Given the description of an element on the screen output the (x, y) to click on. 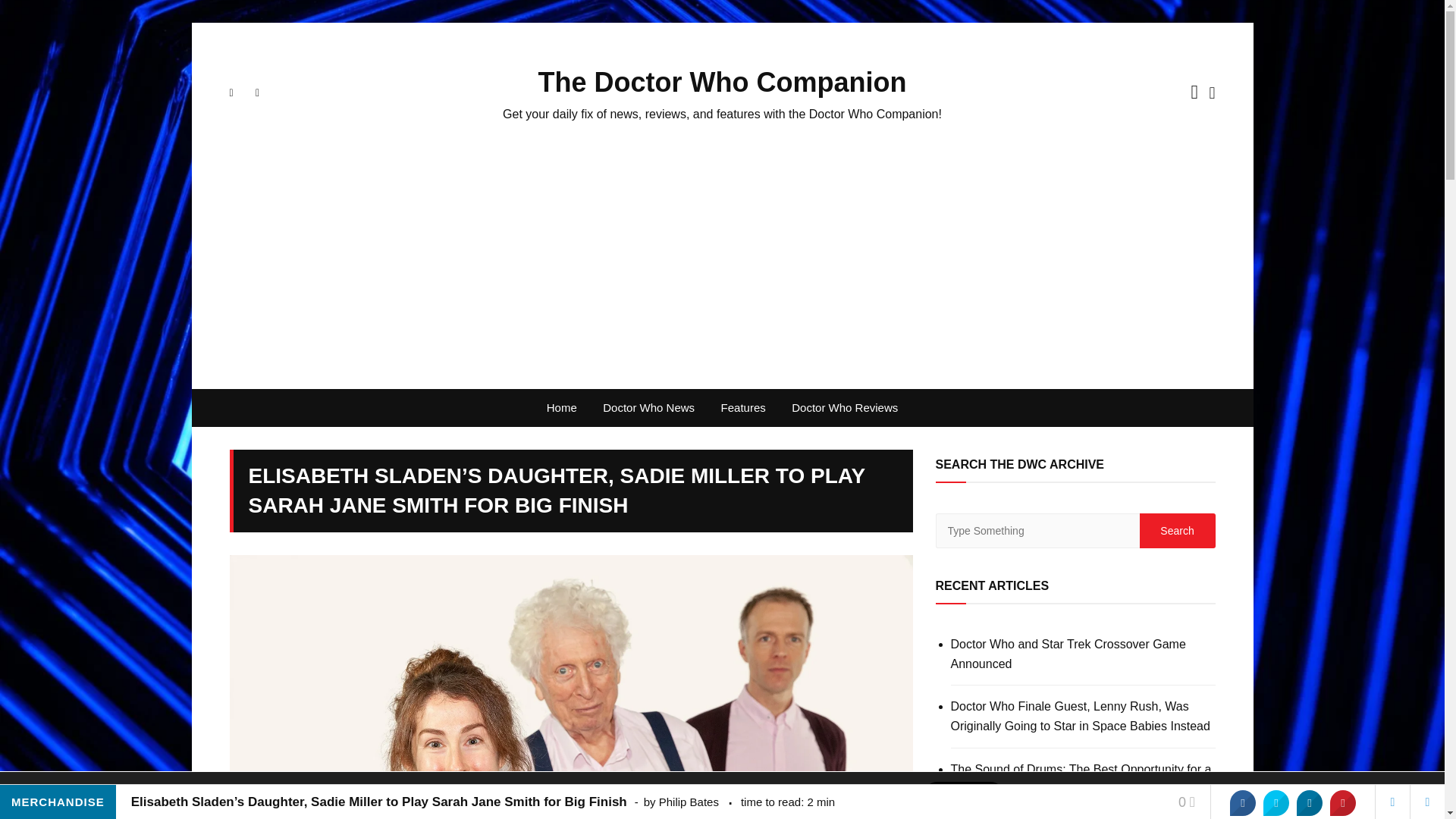
Home (561, 407)
Features (743, 407)
Doctor Who Reviews (844, 407)
The Doctor Who Companion (722, 81)
Search (1176, 530)
Doctor Who News (648, 407)
